Given the description of an element on the screen output the (x, y) to click on. 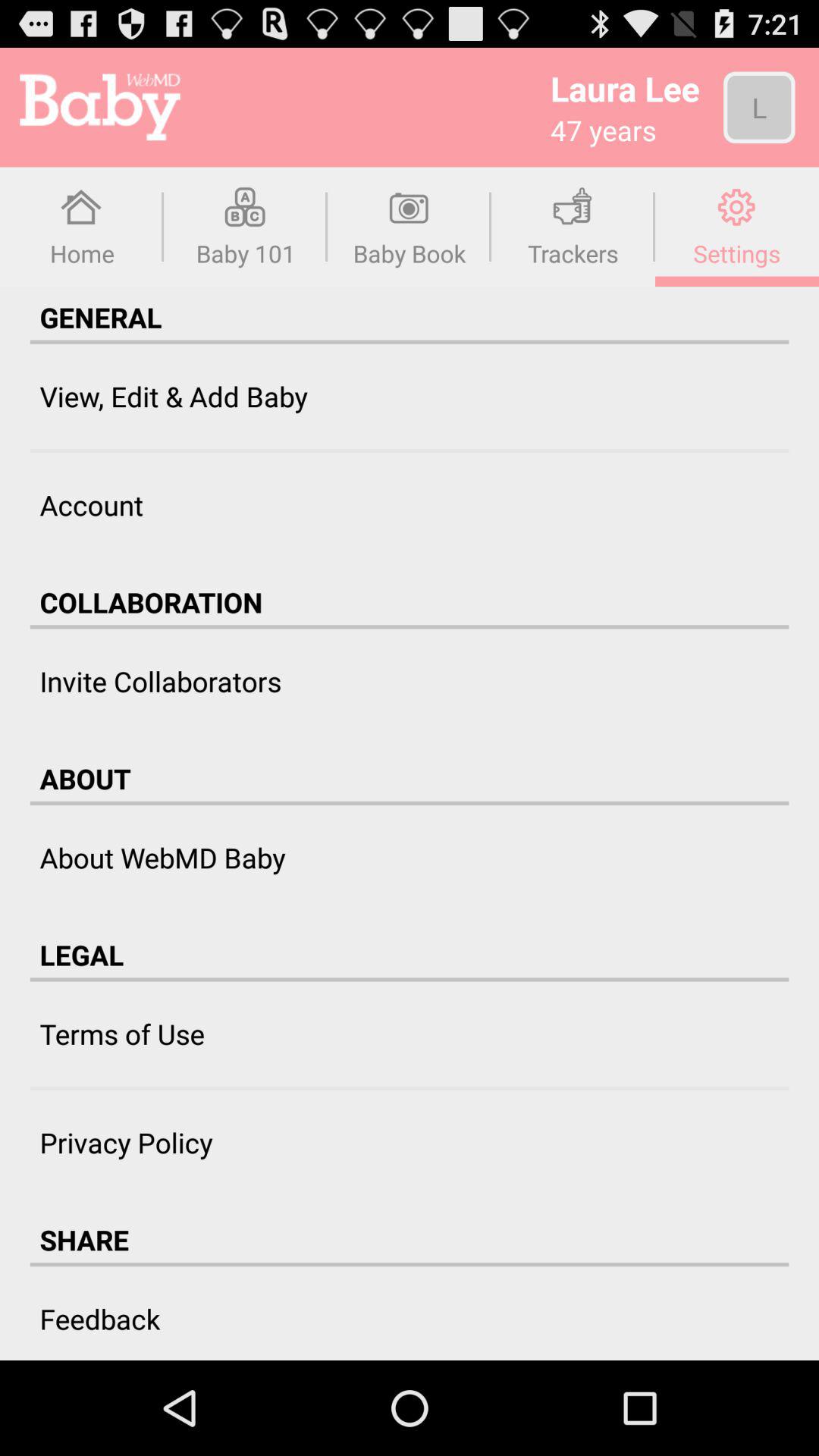
scroll to the feedback icon (99, 1318)
